Given the description of an element on the screen output the (x, y) to click on. 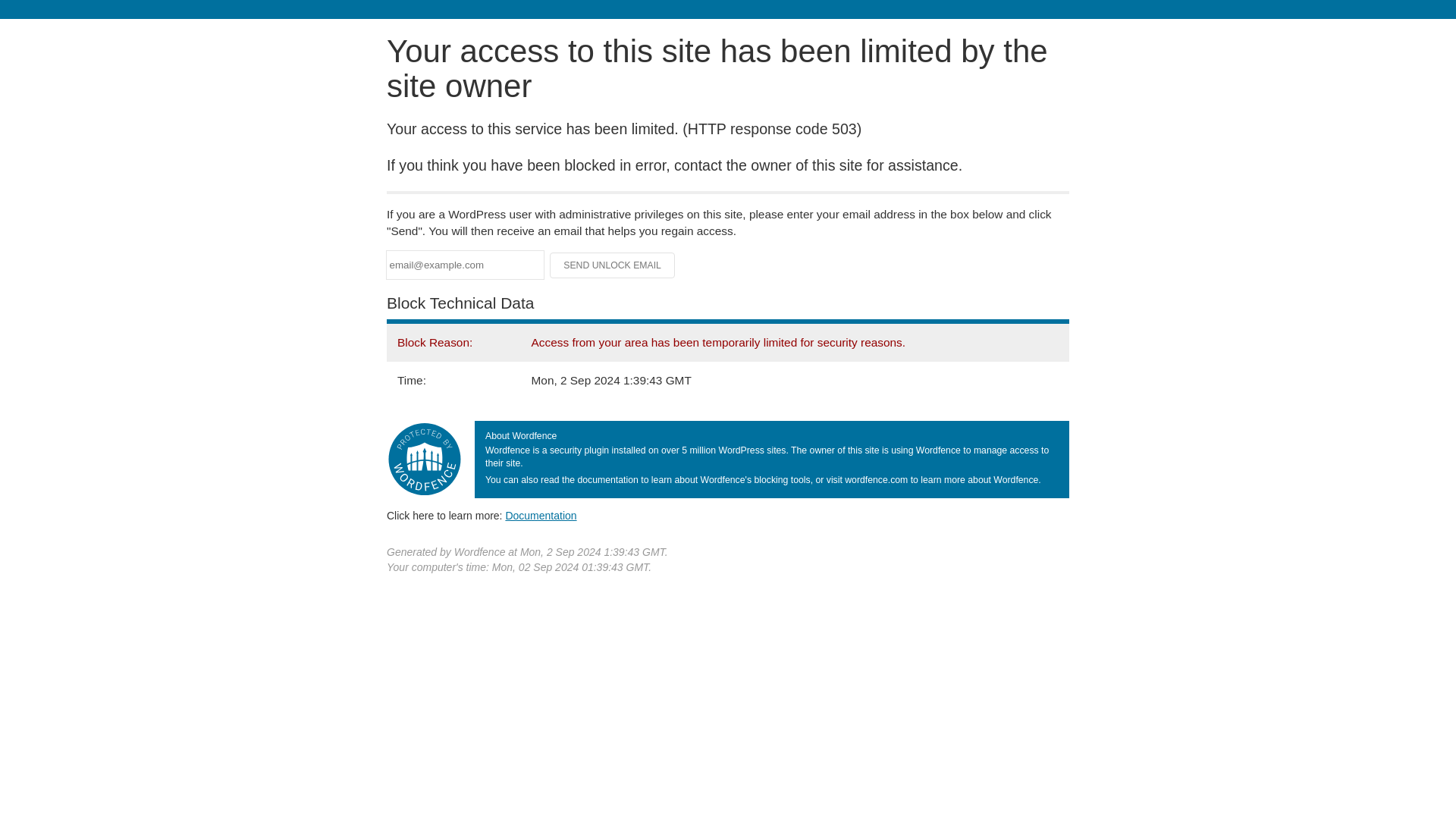
Send Unlock Email (612, 265)
Send Unlock Email (612, 265)
Documentation (540, 515)
